Given the description of an element on the screen output the (x, y) to click on. 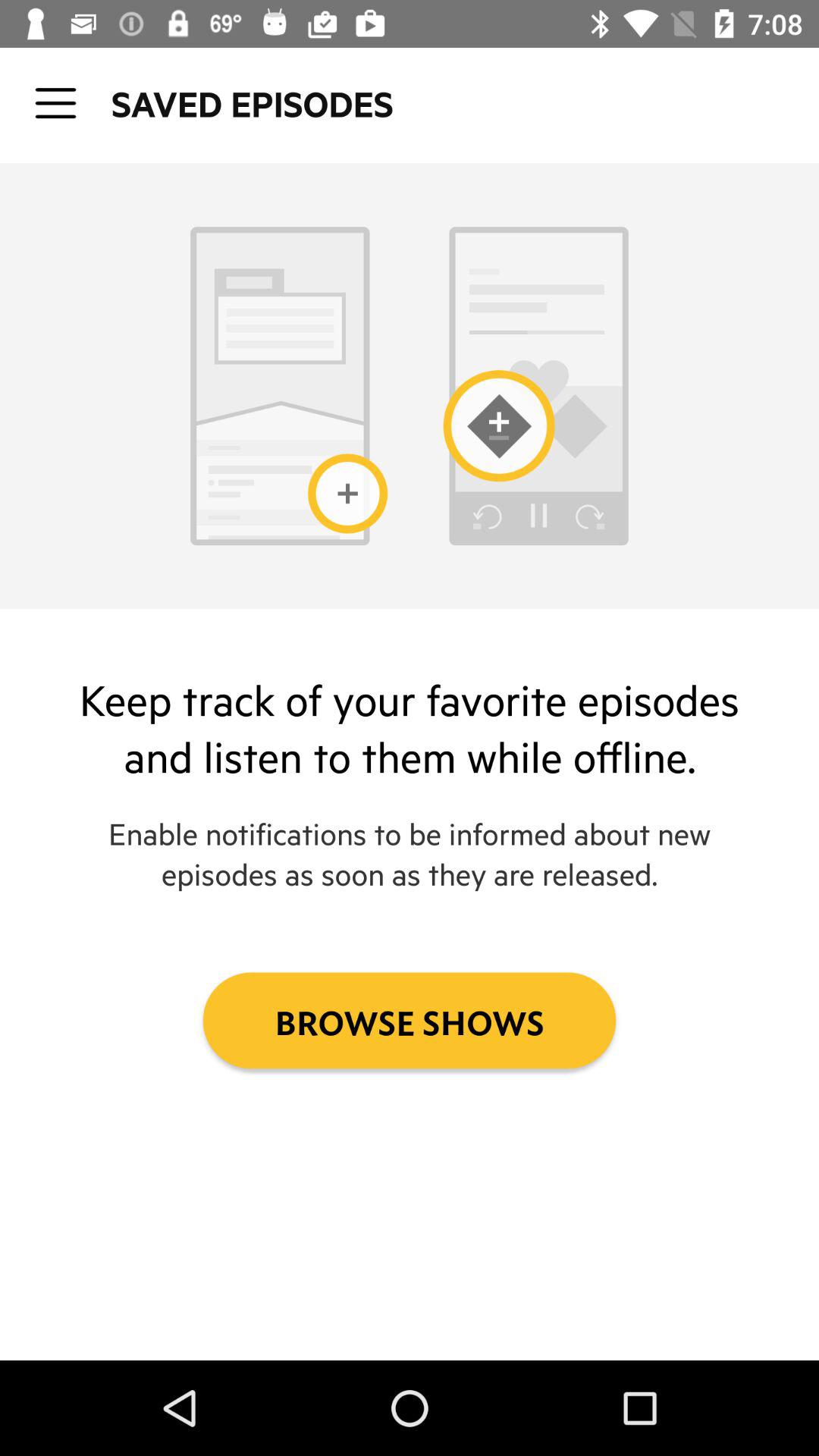
turn off the item above keep track of icon (55, 103)
